Given the description of an element on the screen output the (x, y) to click on. 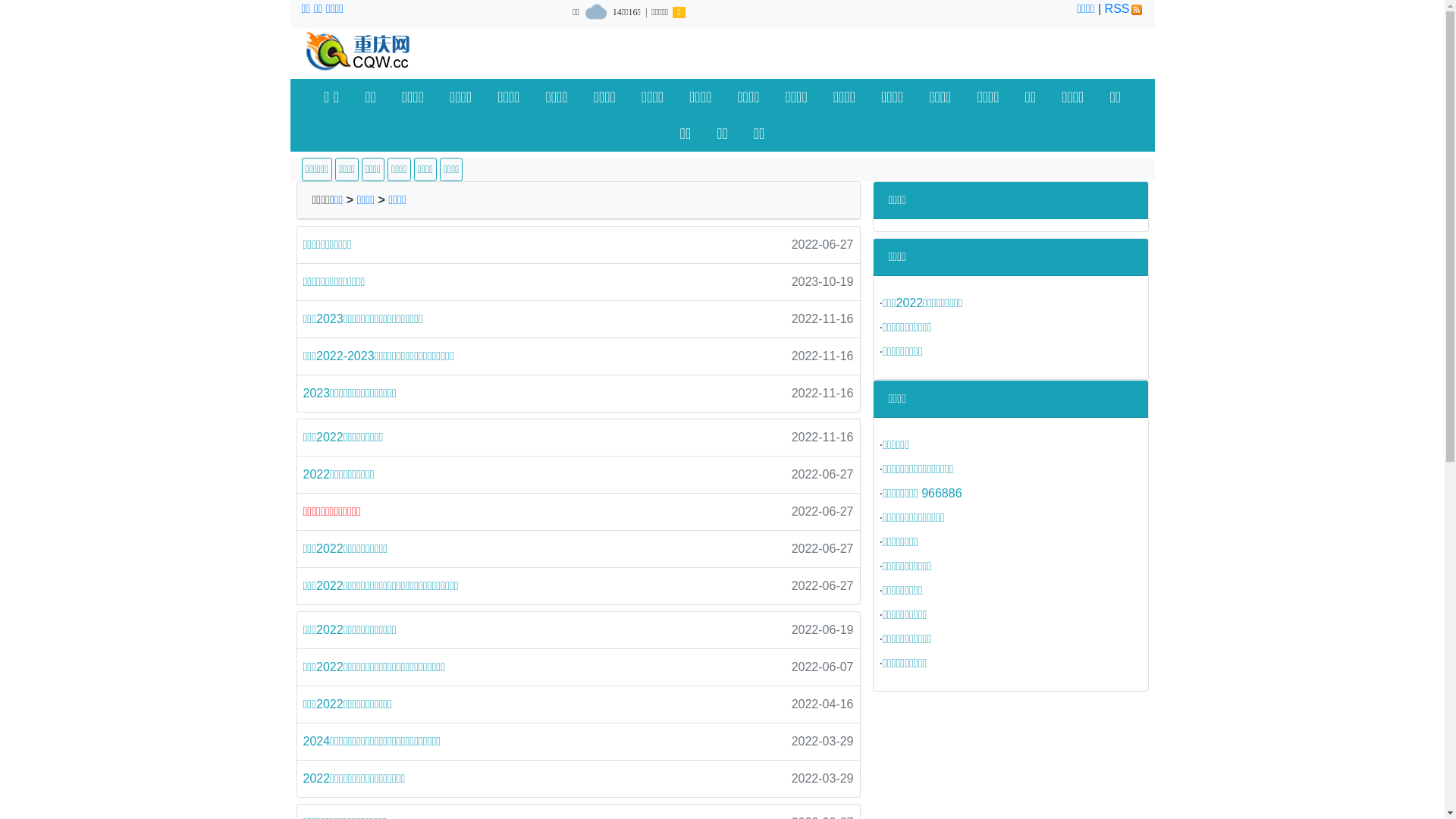
RSS Element type: text (1123, 8)
